Given the description of an element on the screen output the (x, y) to click on. 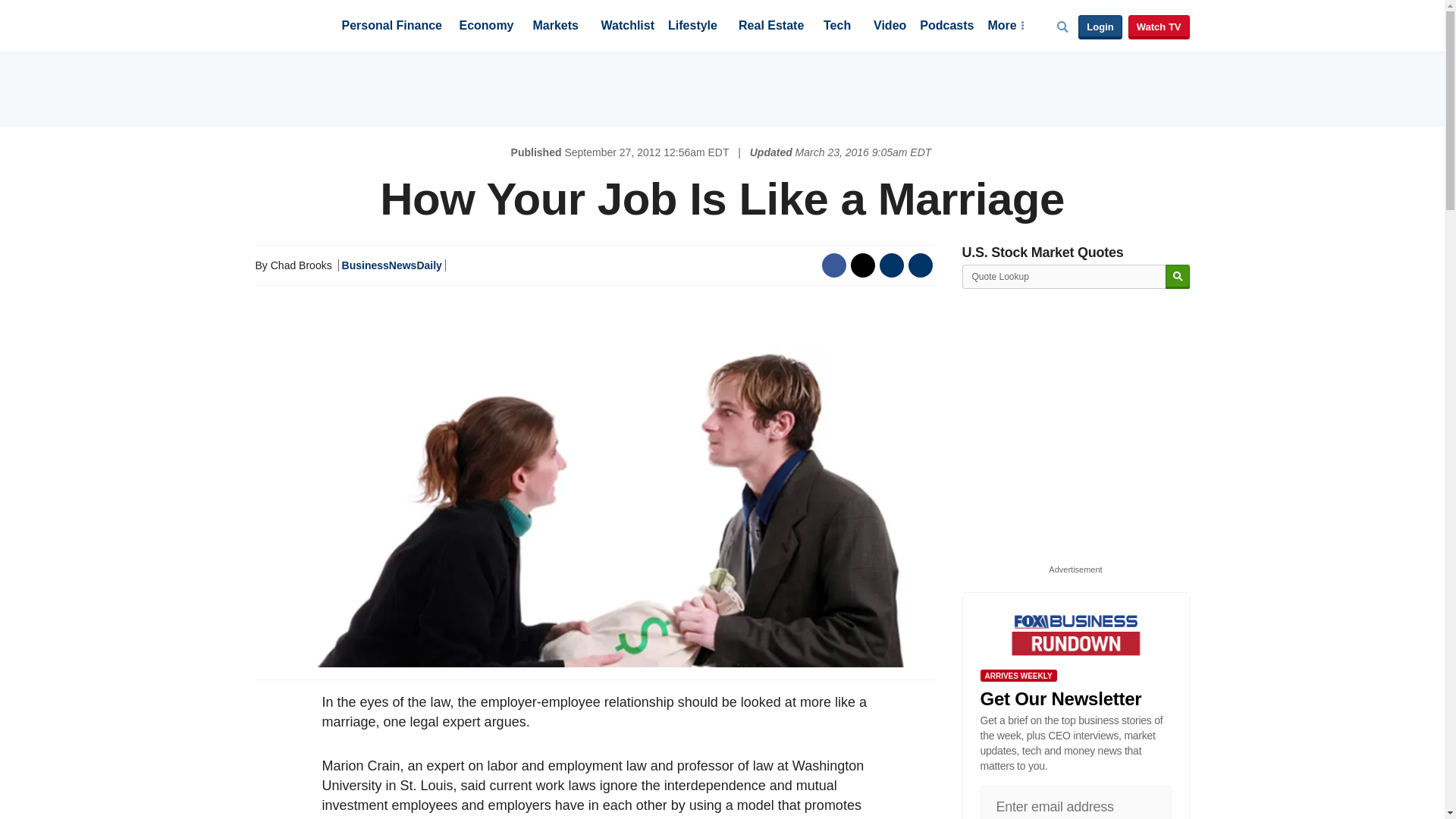
Markets (555, 27)
Real Estate (770, 27)
Lifestyle (692, 27)
Fox Business (290, 24)
Search (1176, 276)
Search (1176, 276)
Login (1099, 27)
Personal Finance (391, 27)
More (1005, 27)
Tech (837, 27)
